Given the description of an element on the screen output the (x, y) to click on. 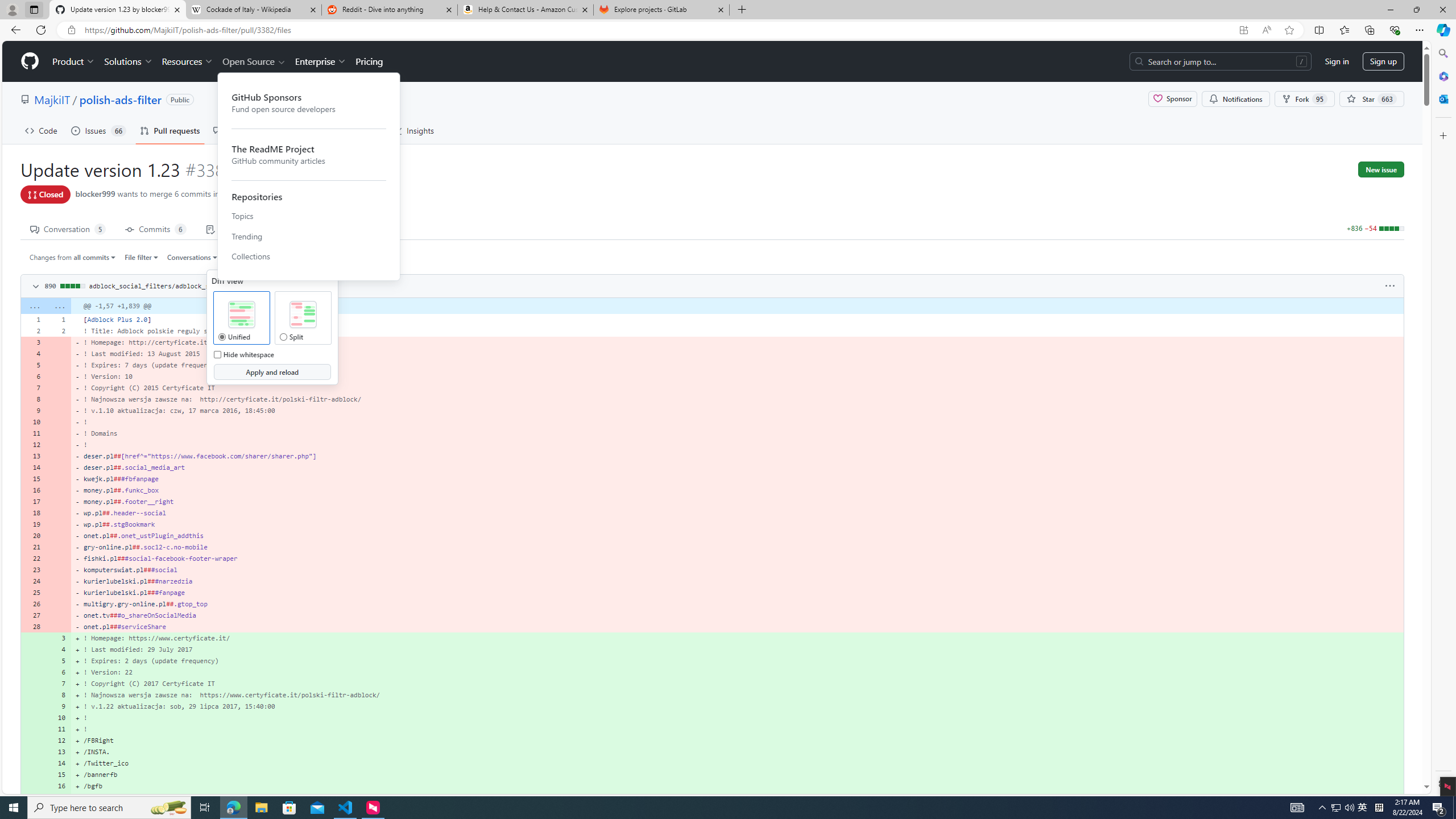
adblock_social_filters/adblock_social_list.txt (175, 285)
6 (58, 672)
Discussions (240, 130)
The ReadME Project GitHub community articles (309, 154)
Issues 66 (98, 130)
+ /btnartwrzuta  (737, 797)
+ ! Copyright (C) 2017 Certyficate IT (737, 683)
Resources (187, 60)
Hide whitespace (216, 354)
- komputerswiat.pl###social (737, 569)
Discussions (240, 130)
- wp.pl##.stgBookmark (737, 523)
8 (58, 695)
- fishki.pl###social-facebook-footer-wraper (737, 558)
